Given the description of an element on the screen output the (x, y) to click on. 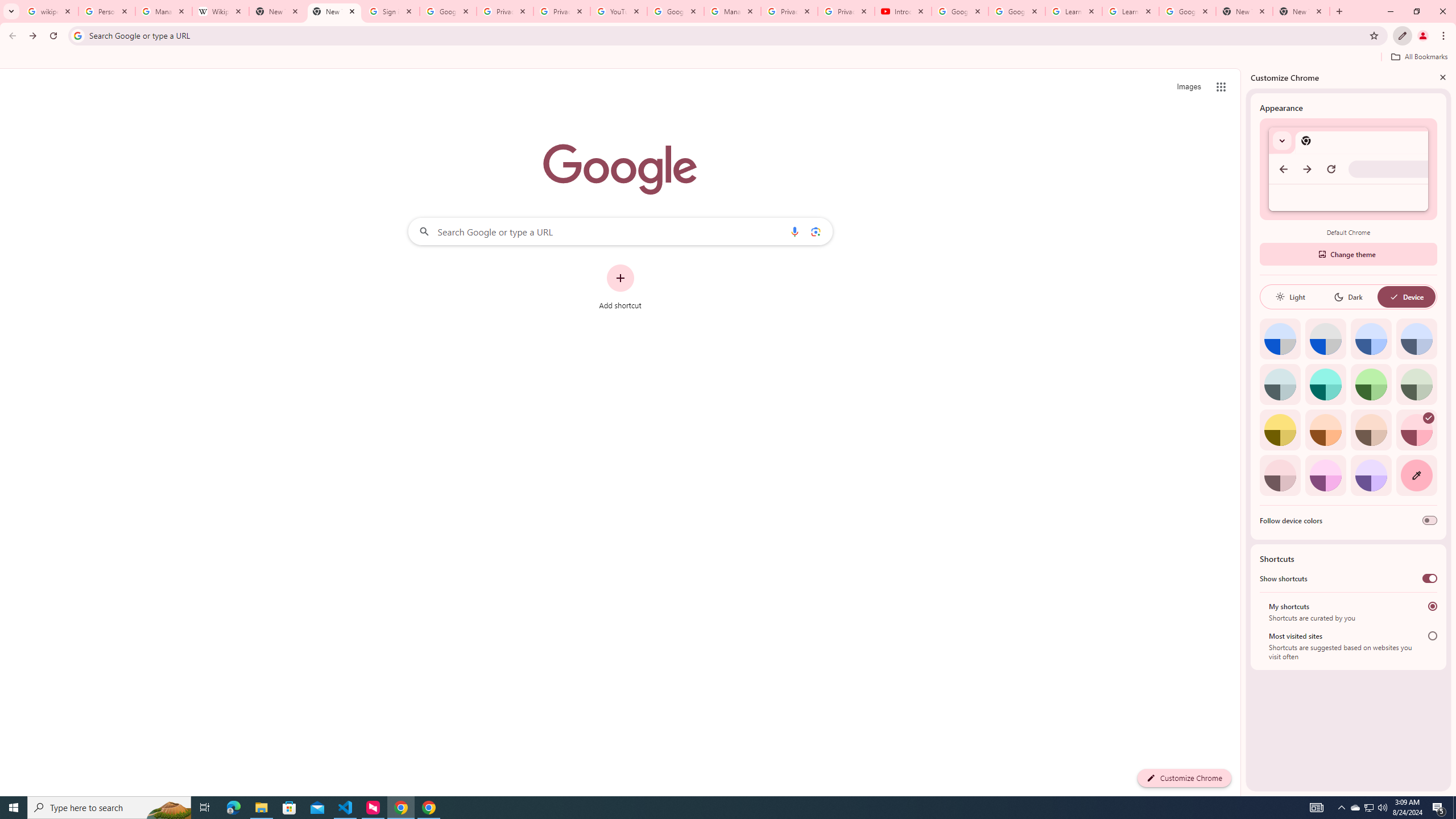
AutomationID: baseSvg (1394, 296)
My shortcuts (1432, 605)
Default Chrome (1348, 169)
New Tab (334, 11)
Bookmarks (728, 58)
Manage your Location History - Google Search Help (163, 11)
Show shortcuts (1429, 578)
AutomationID: svg (1428, 417)
Grey (1279, 383)
Customize Chrome (1402, 35)
New Tab (1244, 11)
